Given the description of an element on the screen output the (x, y) to click on. 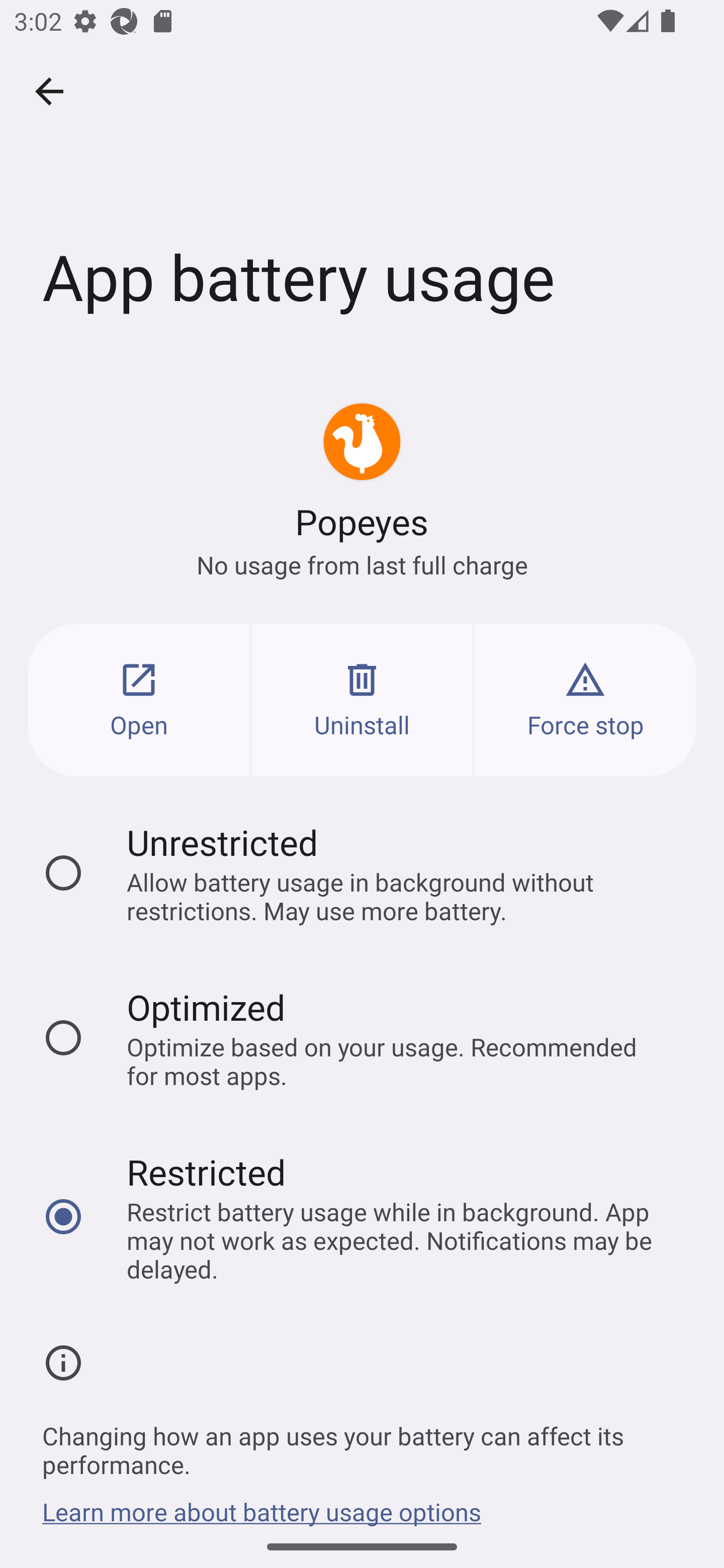
Navigate up (49, 91)
Open (138, 700)
Uninstall (361, 700)
Force stop (584, 700)
